Given the description of an element on the screen output the (x, y) to click on. 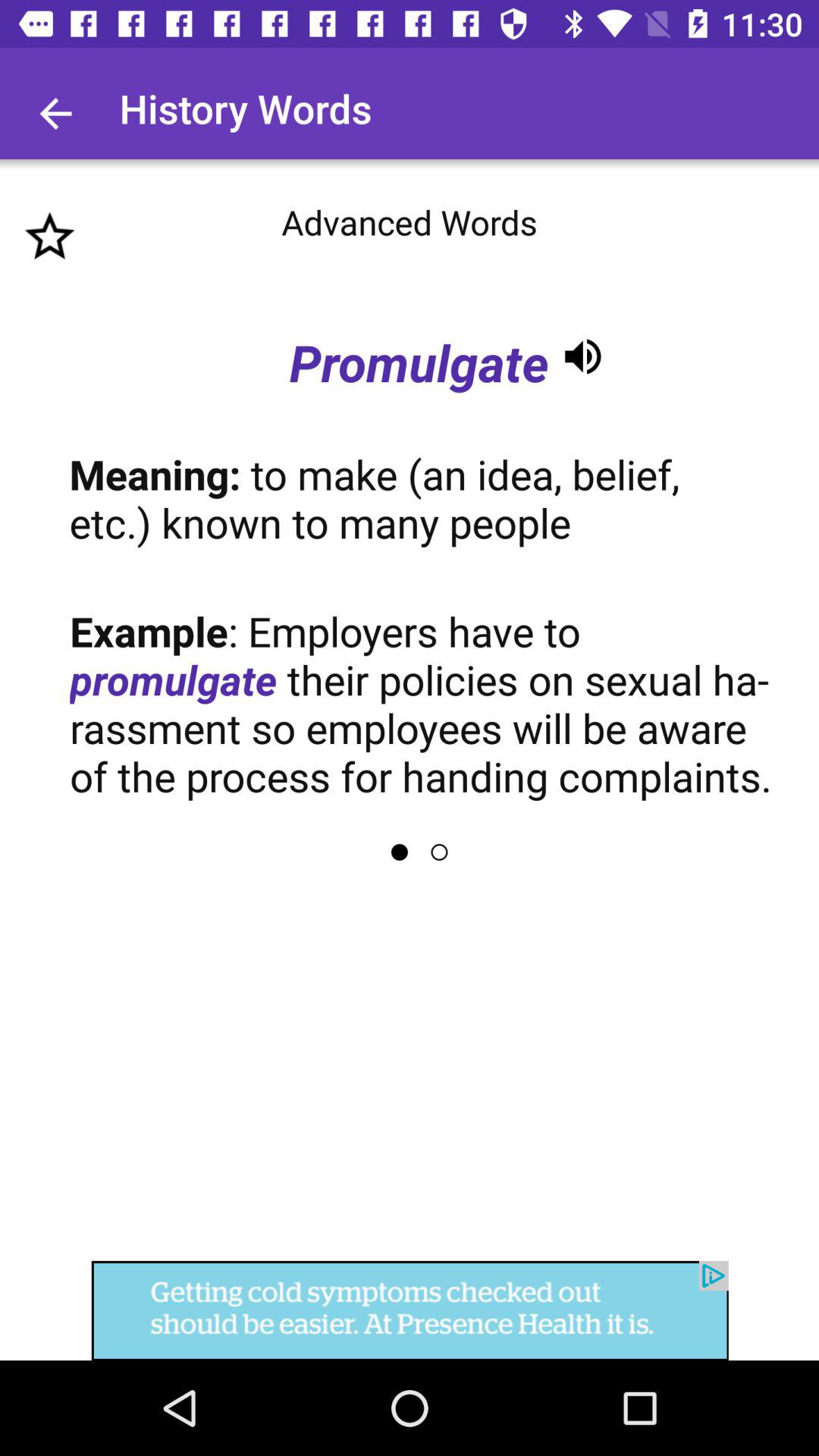
favourite option (49, 236)
